Given the description of an element on the screen output the (x, y) to click on. 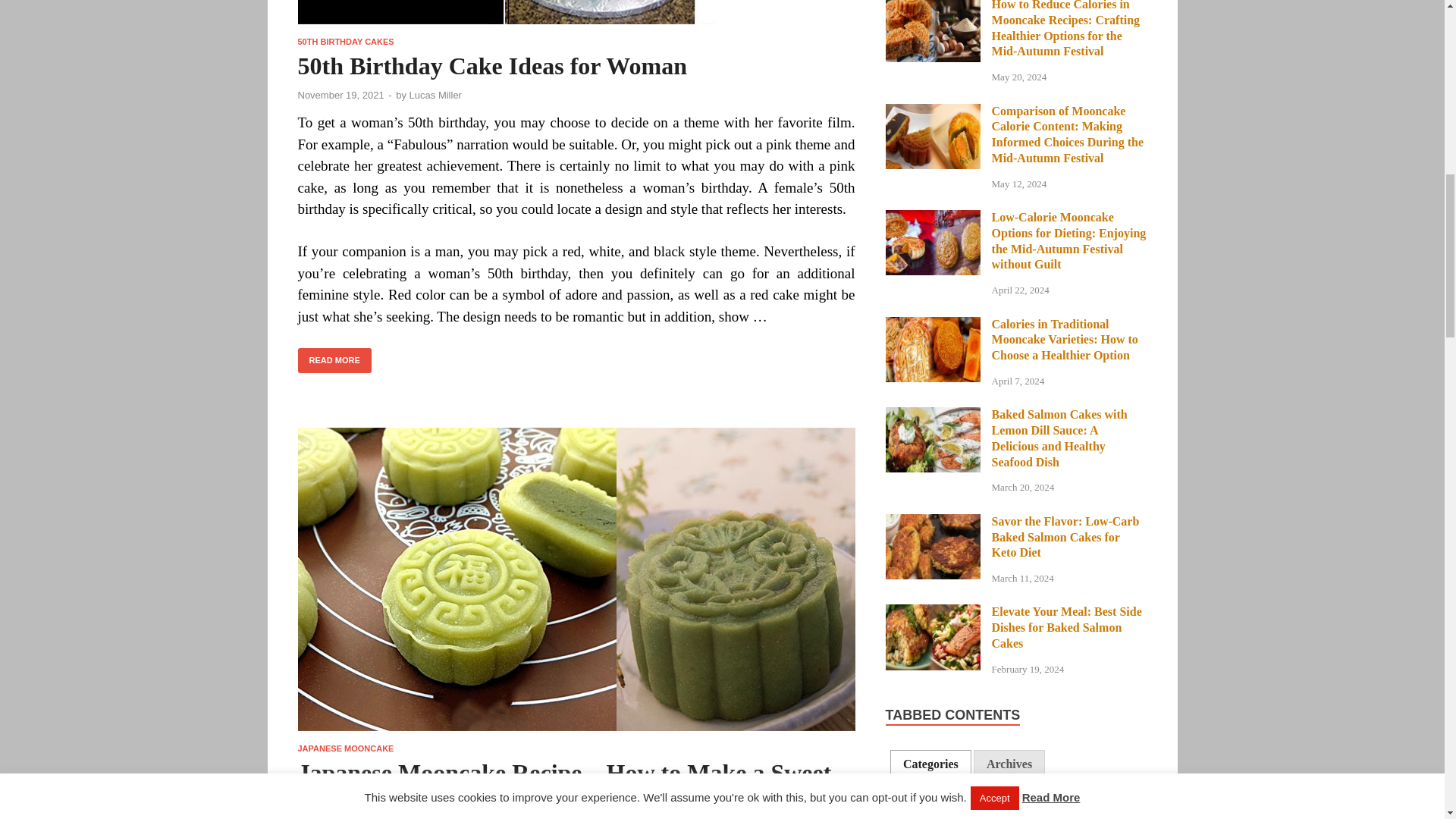
Savor the Flavor: Low-Carb Baked Salmon Cakes for Keto Diet (932, 522)
50th Birthday Cake Ideas for Woman (575, 18)
Elevate Your Meal: Best Side Dishes for Baked Salmon Cakes (932, 612)
